Given the description of an element on the screen output the (x, y) to click on. 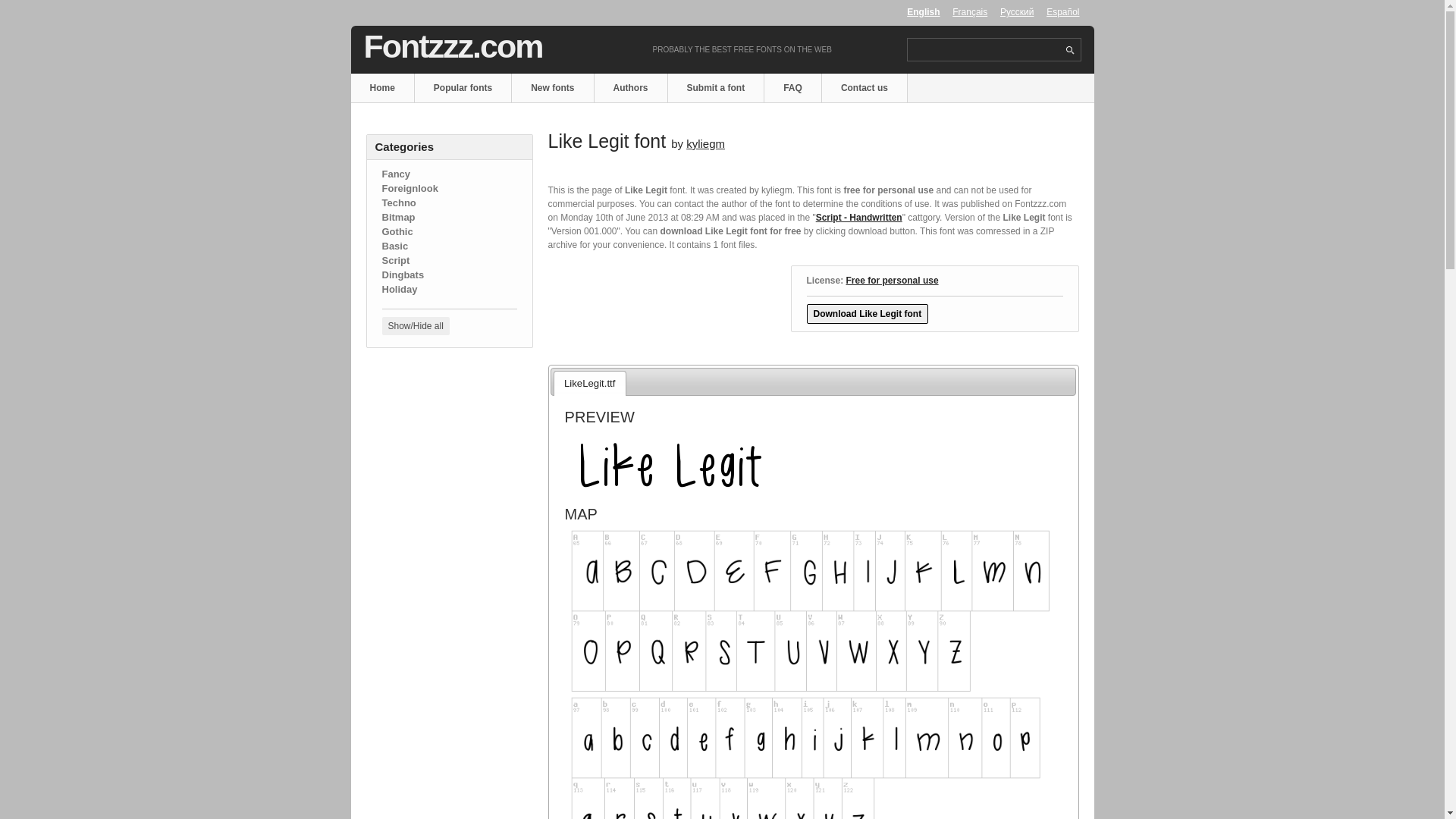
Authors (631, 88)
New fonts (553, 88)
Popular fonts (463, 88)
Submit a font (716, 88)
Contact us (864, 88)
Home (381, 88)
Fontzzz.com (453, 46)
search (1069, 49)
English (923, 11)
FAQ (793, 88)
